Given the description of an element on the screen output the (x, y) to click on. 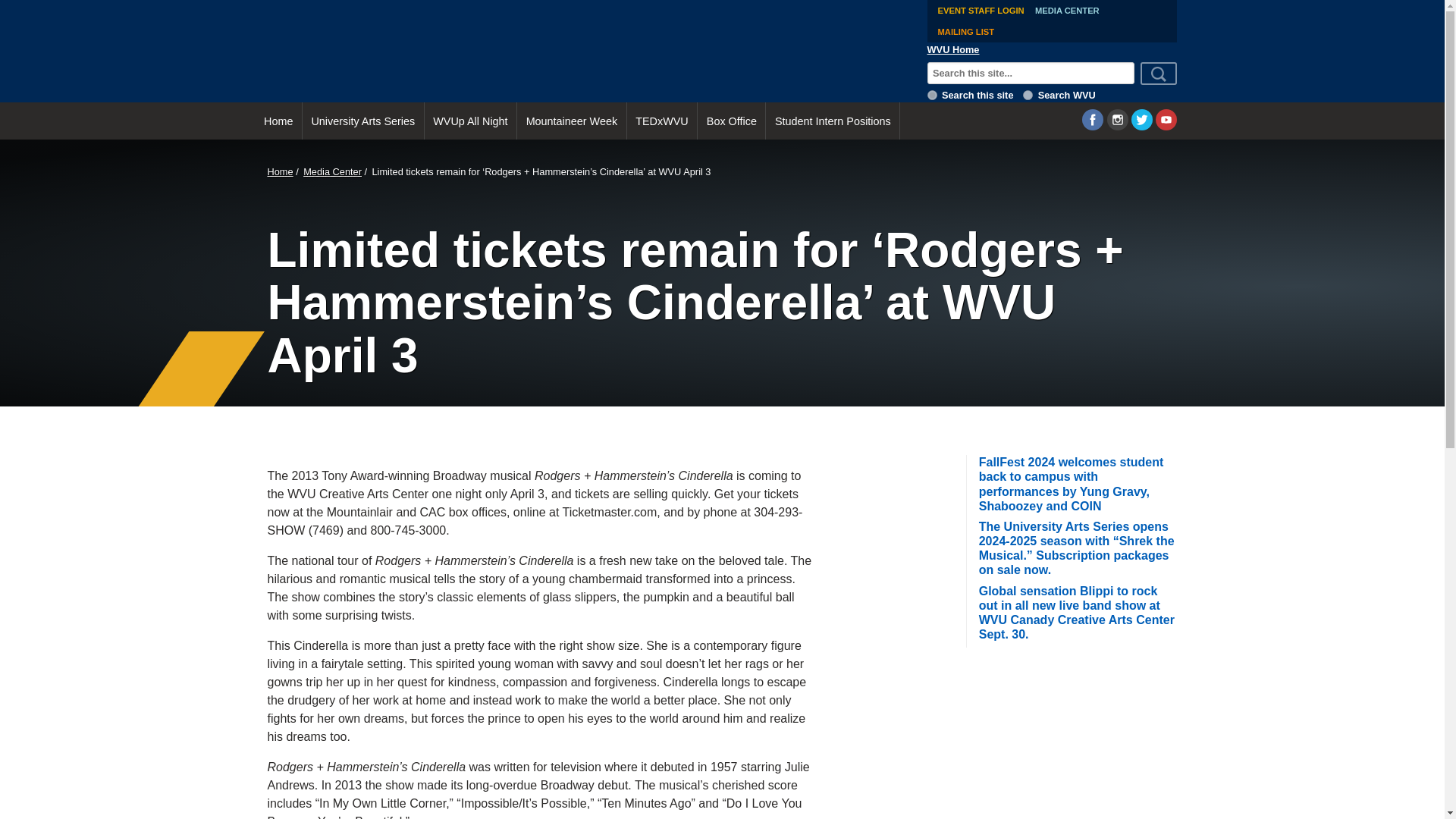
Student Intern Positions (832, 120)
Search (1158, 73)
WVU Home (953, 49)
WVUp All Night (470, 120)
Media Center (331, 171)
MAILING LIST (965, 31)
Box Office (731, 120)
www.events.wvu.edu (932, 94)
wvu.edu (1027, 94)
Home (279, 171)
